Given the description of an element on the screen output the (x, y) to click on. 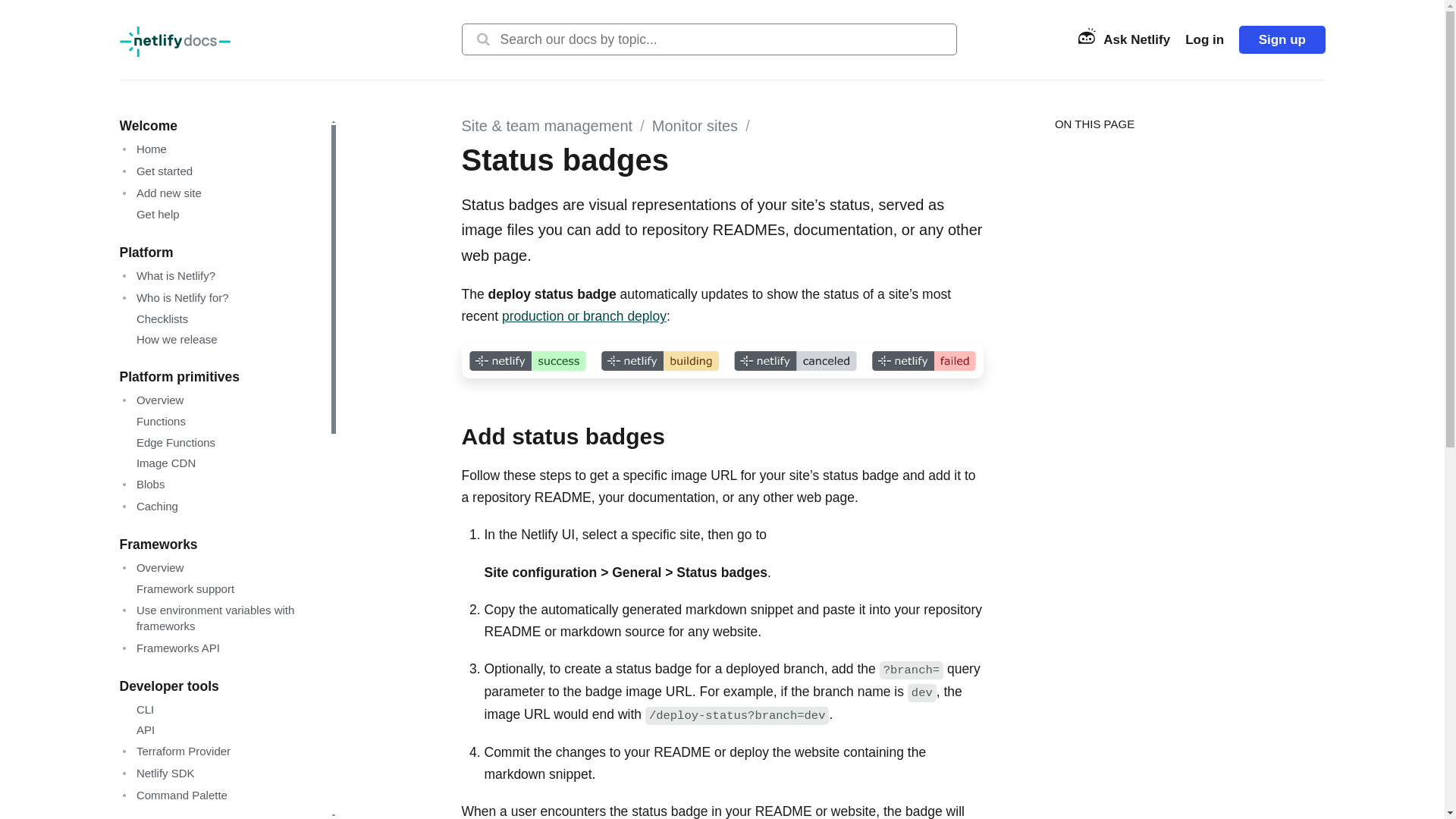
Checklists (156, 318)
Terraform Provider (175, 750)
Home (143, 148)
Framework support (179, 588)
Blobs (142, 483)
Overview (152, 399)
Who is Netlify for? (174, 297)
Get help (152, 214)
Functions (155, 421)
Add new site (161, 192)
